Given the description of an element on the screen output the (x, y) to click on. 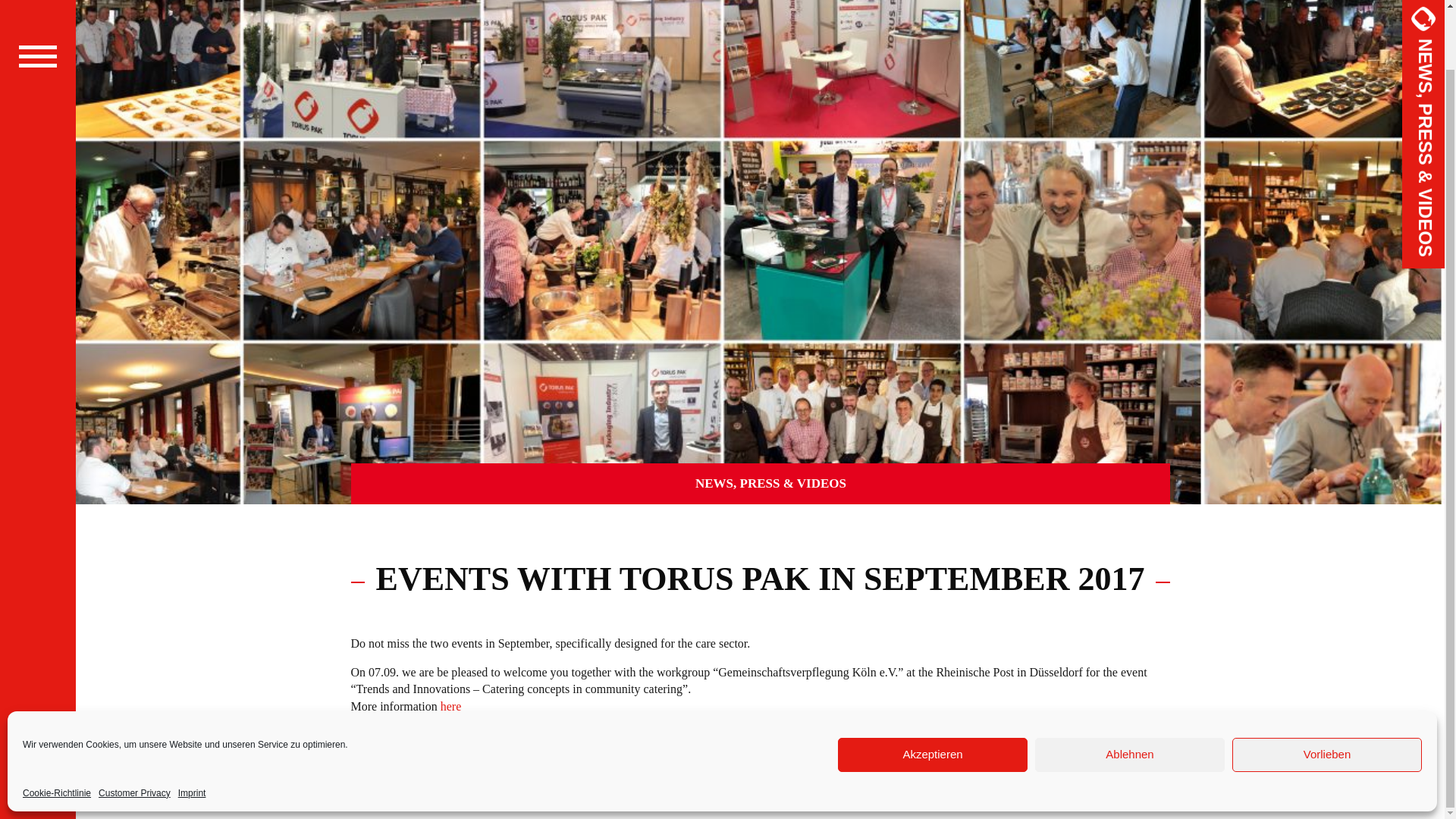
Akzeptieren (932, 690)
Imprint (191, 728)
Vorlieben (1326, 690)
here (451, 706)
Customer Privacy (134, 728)
Cookie-Richtlinie (56, 728)
here (467, 750)
Ablehnen (1129, 690)
